Given the description of an element on the screen output the (x, y) to click on. 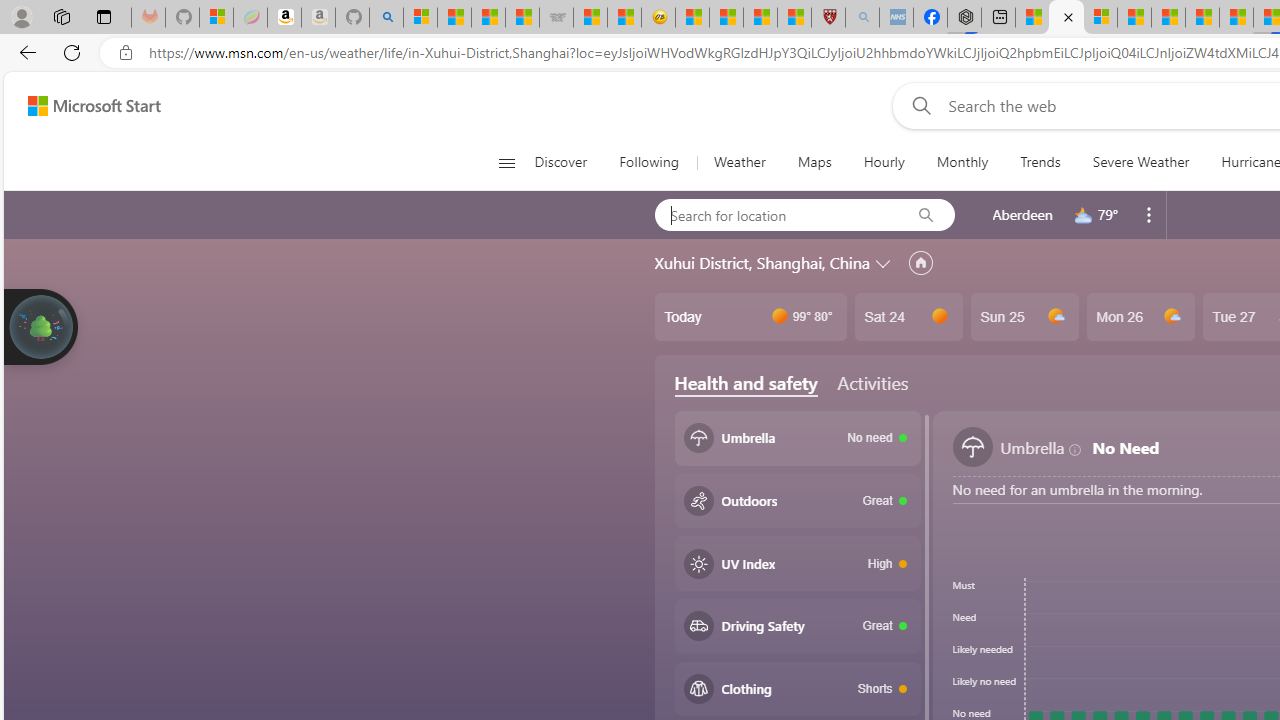
Sun 25 (1024, 317)
Aberdeen (1022, 214)
Set as primary location (920, 263)
Trends (1040, 162)
Severe Weather (1140, 162)
